Given the description of an element on the screen output the (x, y) to click on. 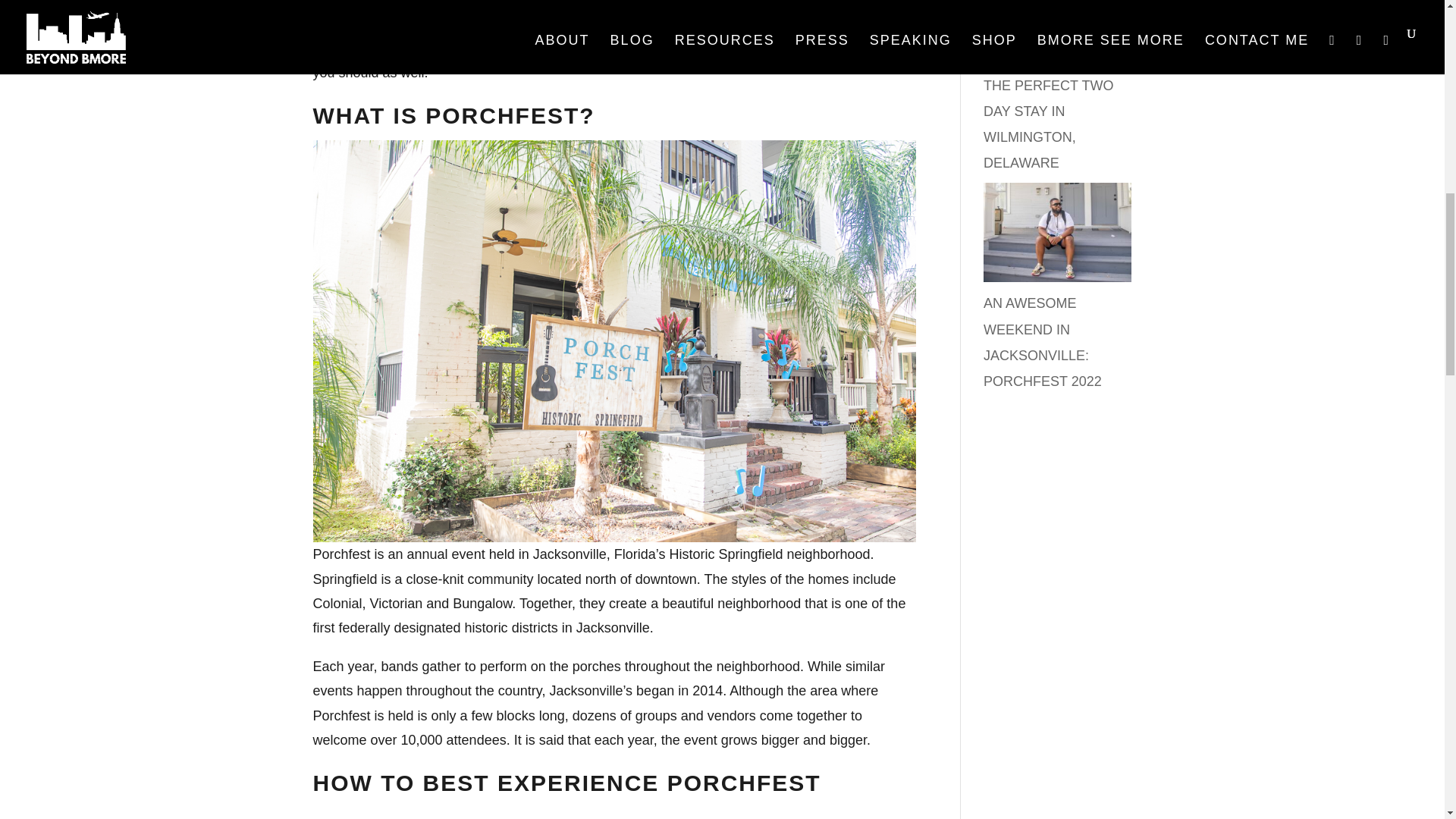
Visit Jacksonville (606, 23)
Porchfest (418, 47)
